Given the description of an element on the screen output the (x, y) to click on. 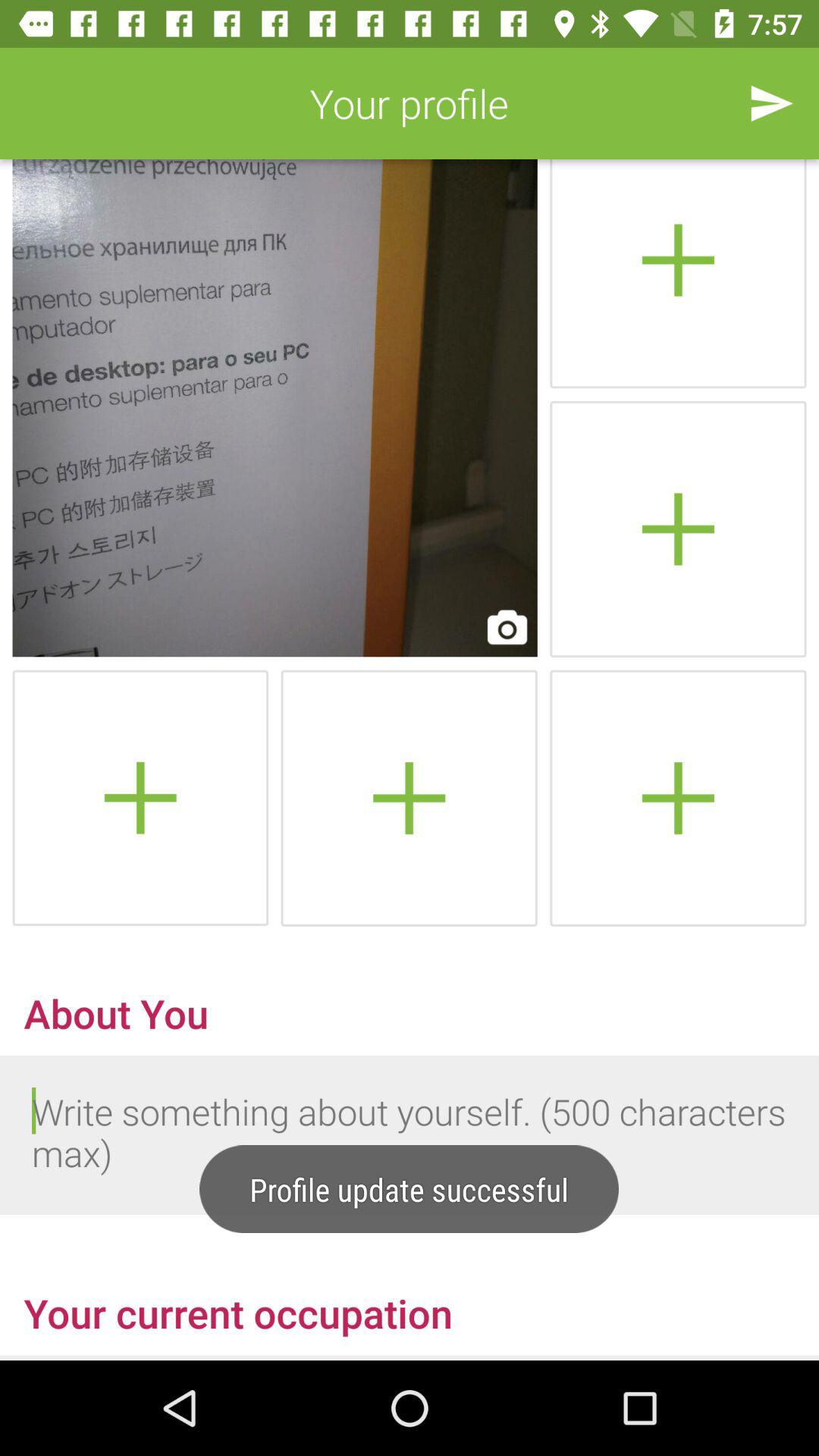
press plus sign (677, 528)
